Given the description of an element on the screen output the (x, y) to click on. 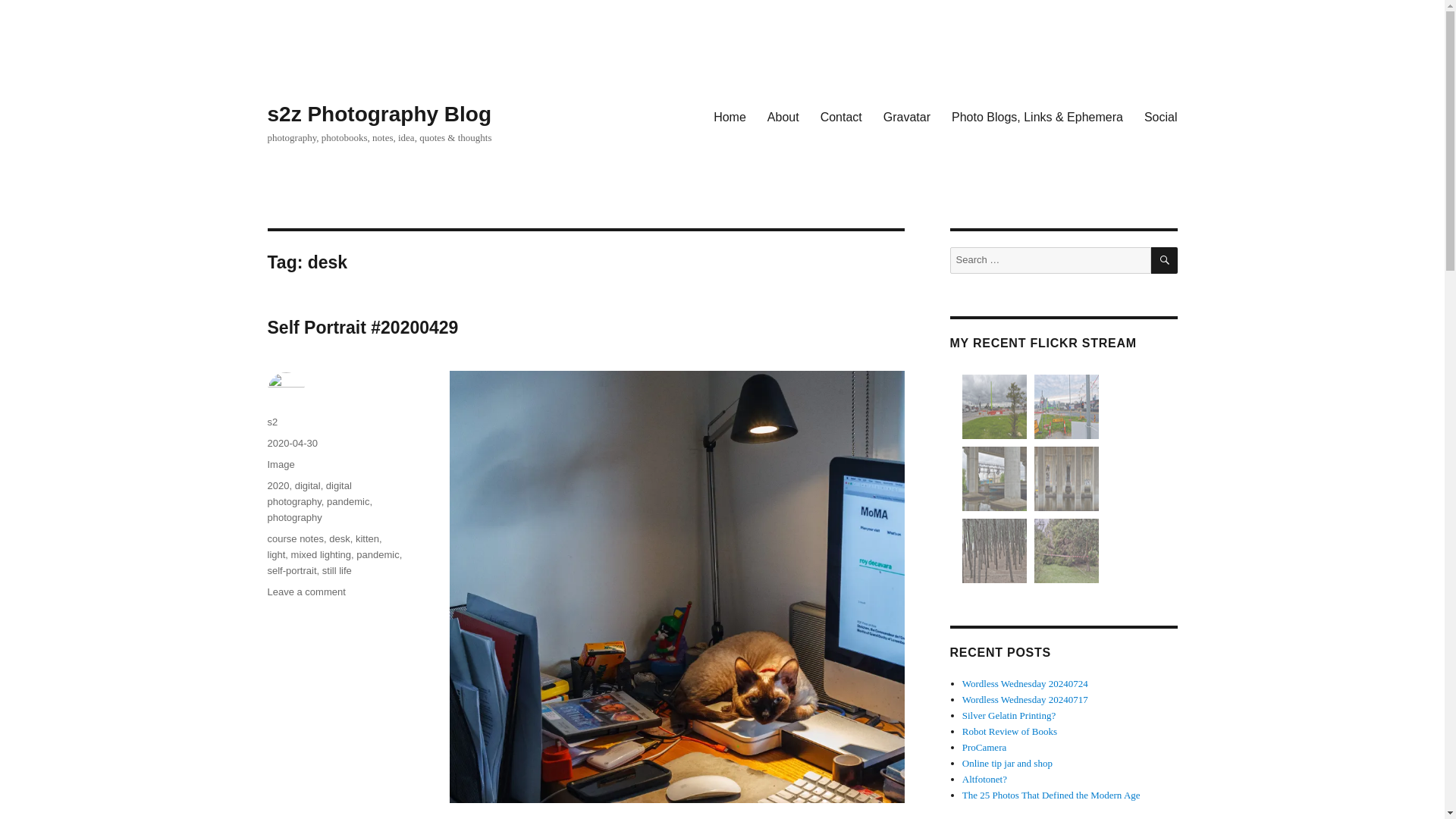
s2z Photography Blog (379, 114)
Image (280, 464)
2020 (277, 485)
pandemic (377, 554)
digital (307, 485)
pandemic (347, 501)
s2 (272, 421)
self-portrait (290, 570)
2020-04-30 (291, 442)
still life (336, 570)
desk (339, 538)
SEARCH (1164, 260)
Melbourne, Victoria, Australia. 2024-01-19 (994, 406)
